Given the description of an element on the screen output the (x, y) to click on. 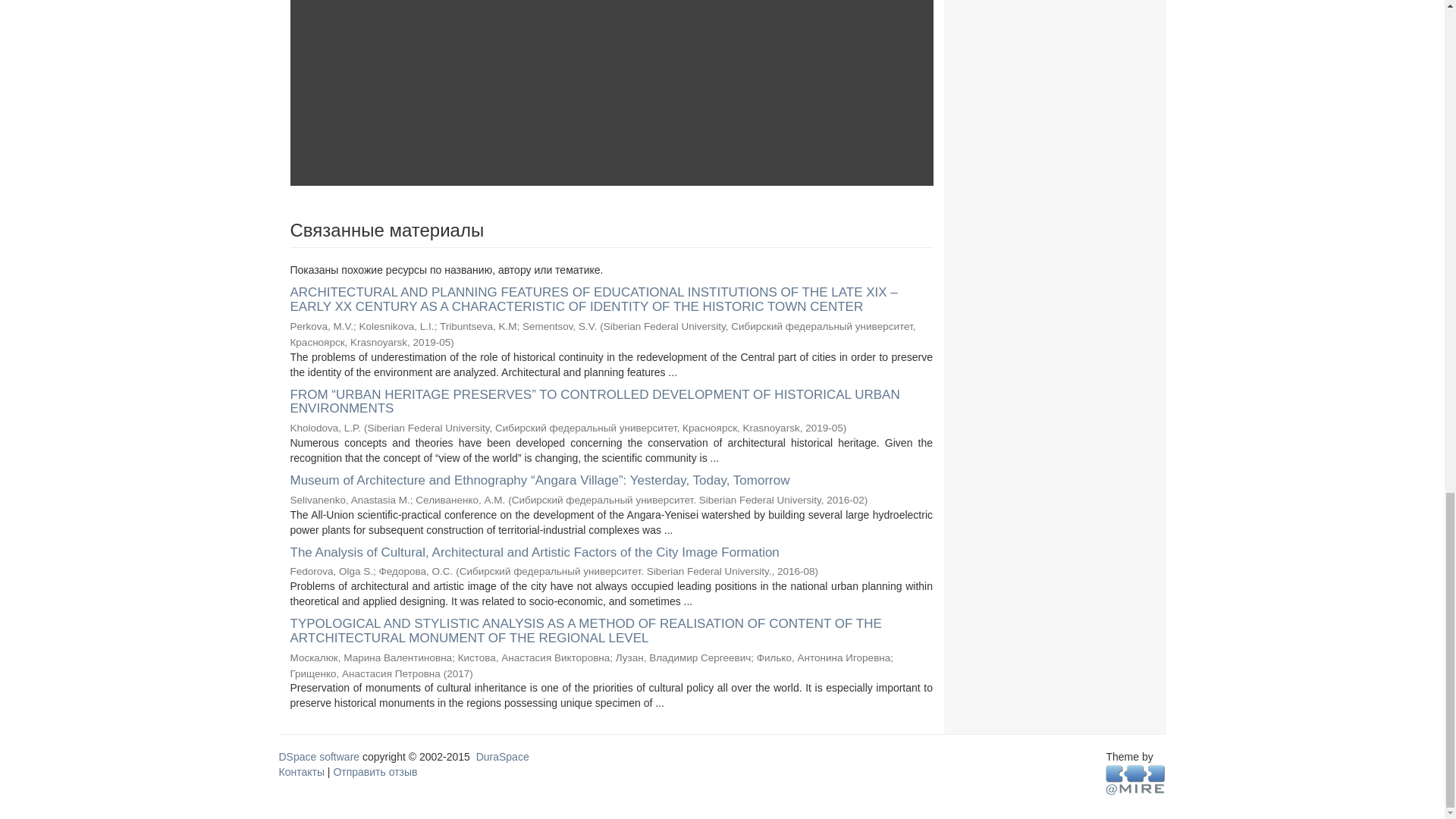
DSpace software (319, 756)
DuraSpace (502, 756)
